Given the description of an element on the screen output the (x, y) to click on. 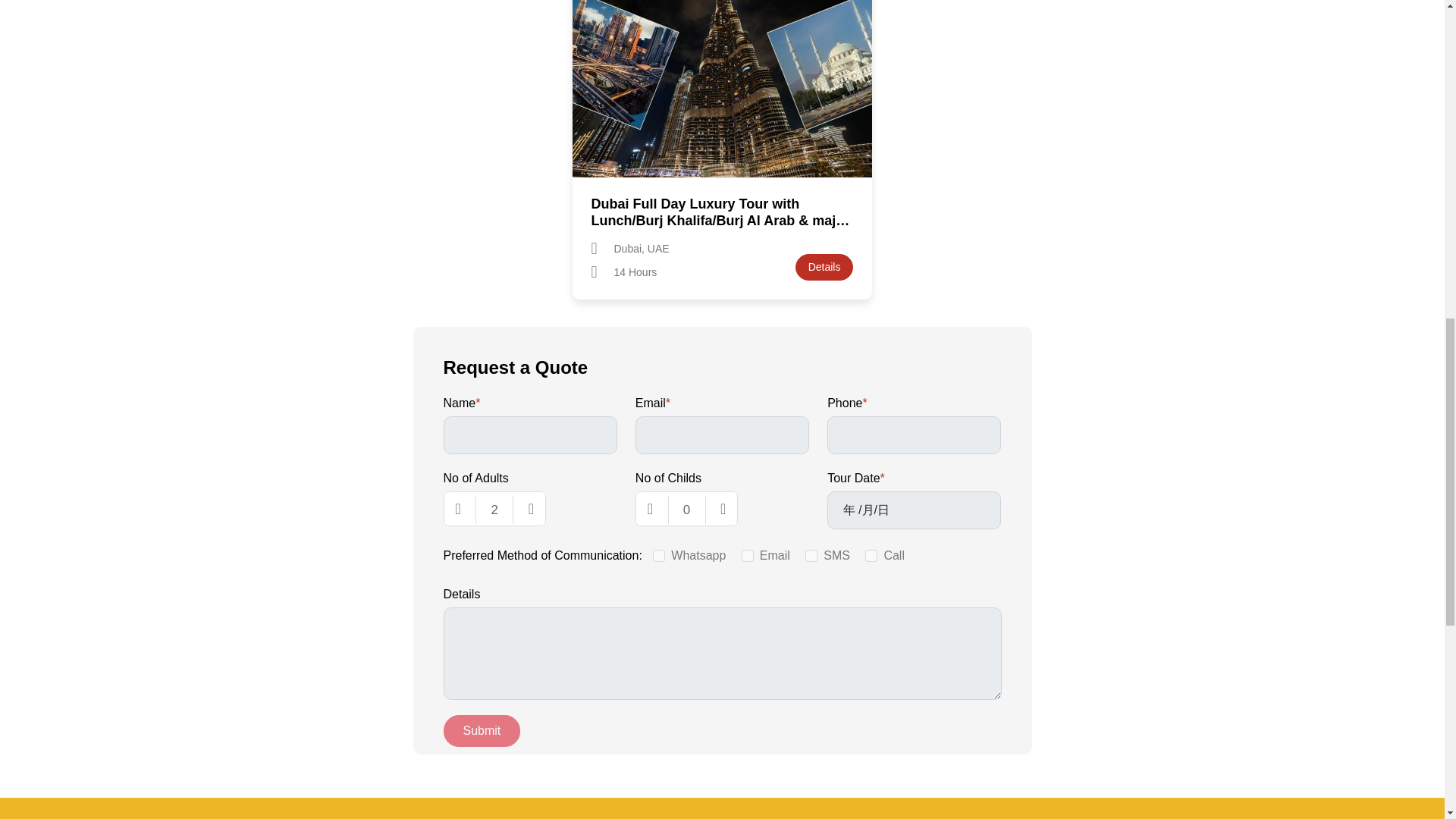
SMS (810, 555)
Submit (480, 730)
Email (747, 555)
0 (687, 510)
Whatsapp (658, 555)
2 (494, 510)
Call (870, 555)
